Given the description of an element on the screen output the (x, y) to click on. 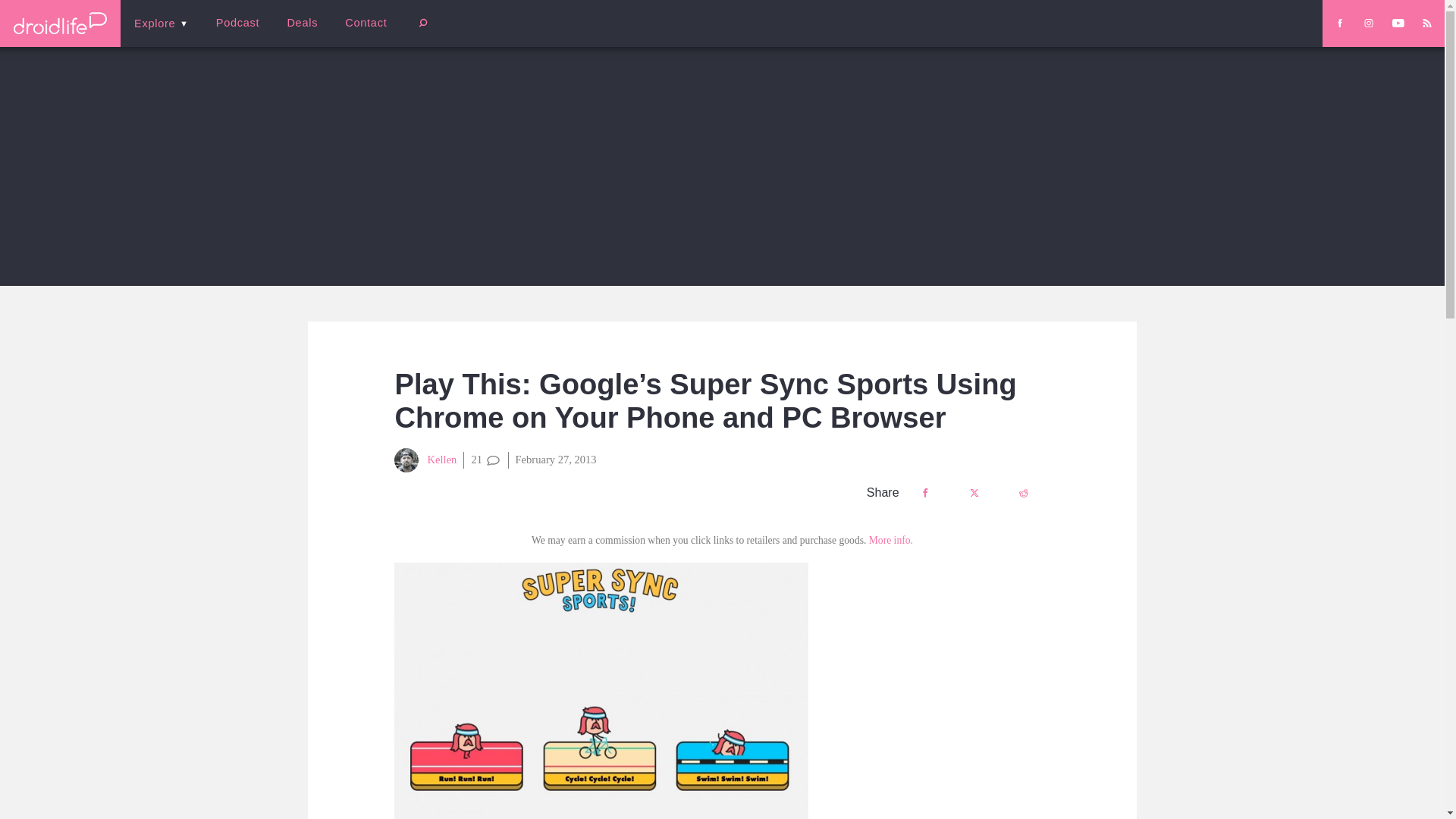
Droid Life on Instagram (1368, 23)
Droid Life on YouTube (1398, 23)
Droid Life on Facebook (1339, 23)
Beginners' Guide (360, 33)
Droid Life RSS (1426, 23)
Explore (161, 23)
Deals (302, 23)
Podcast (237, 23)
Contact (365, 23)
Kellen (425, 459)
